Given the description of an element on the screen output the (x, y) to click on. 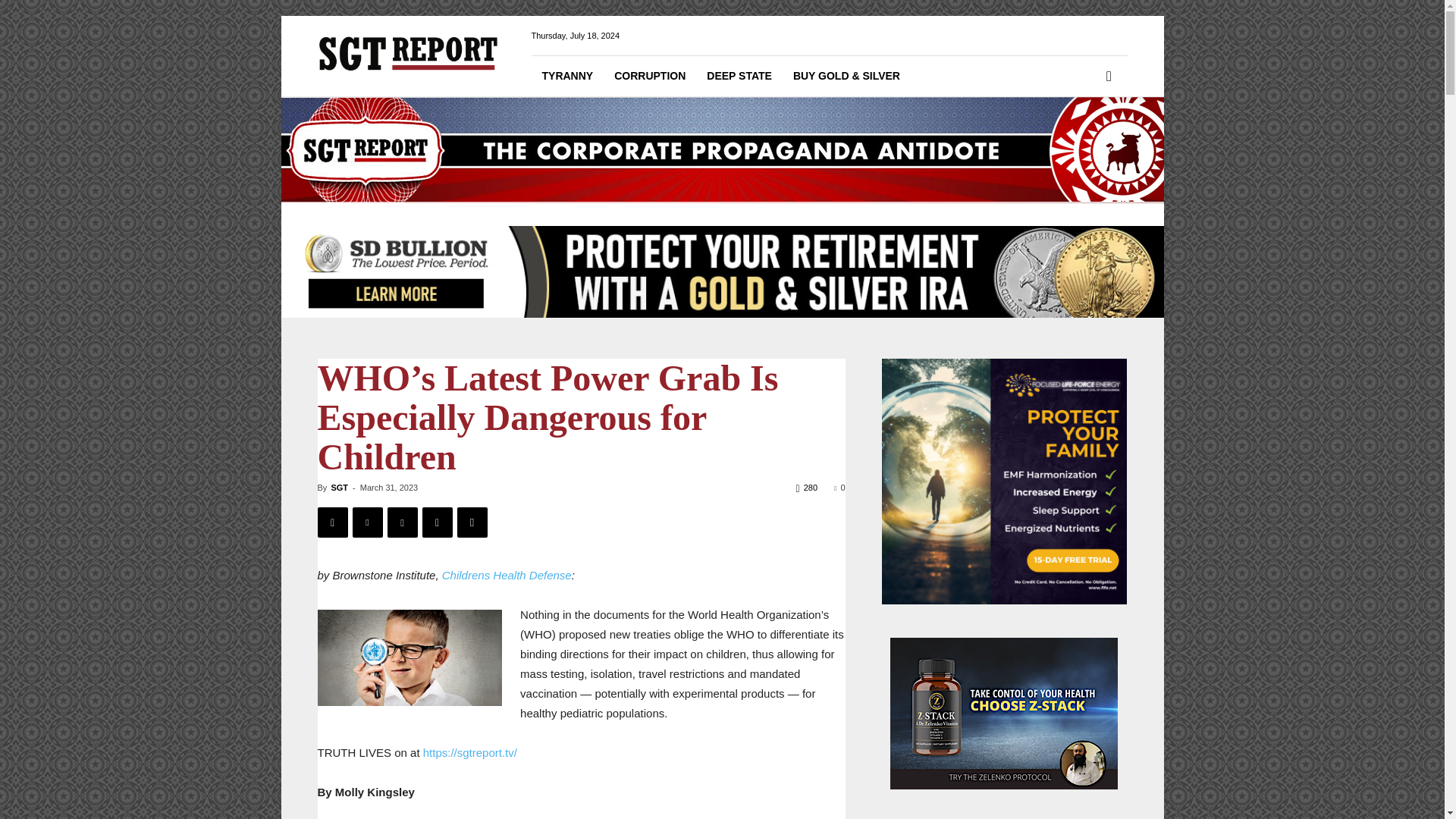
DEEP STATE (739, 76)
Search (1085, 138)
0 (839, 487)
CORRUPTION (649, 76)
Childrens Health Defense (507, 574)
SGT (338, 487)
TYRANNY (567, 76)
